Given the description of an element on the screen output the (x, y) to click on. 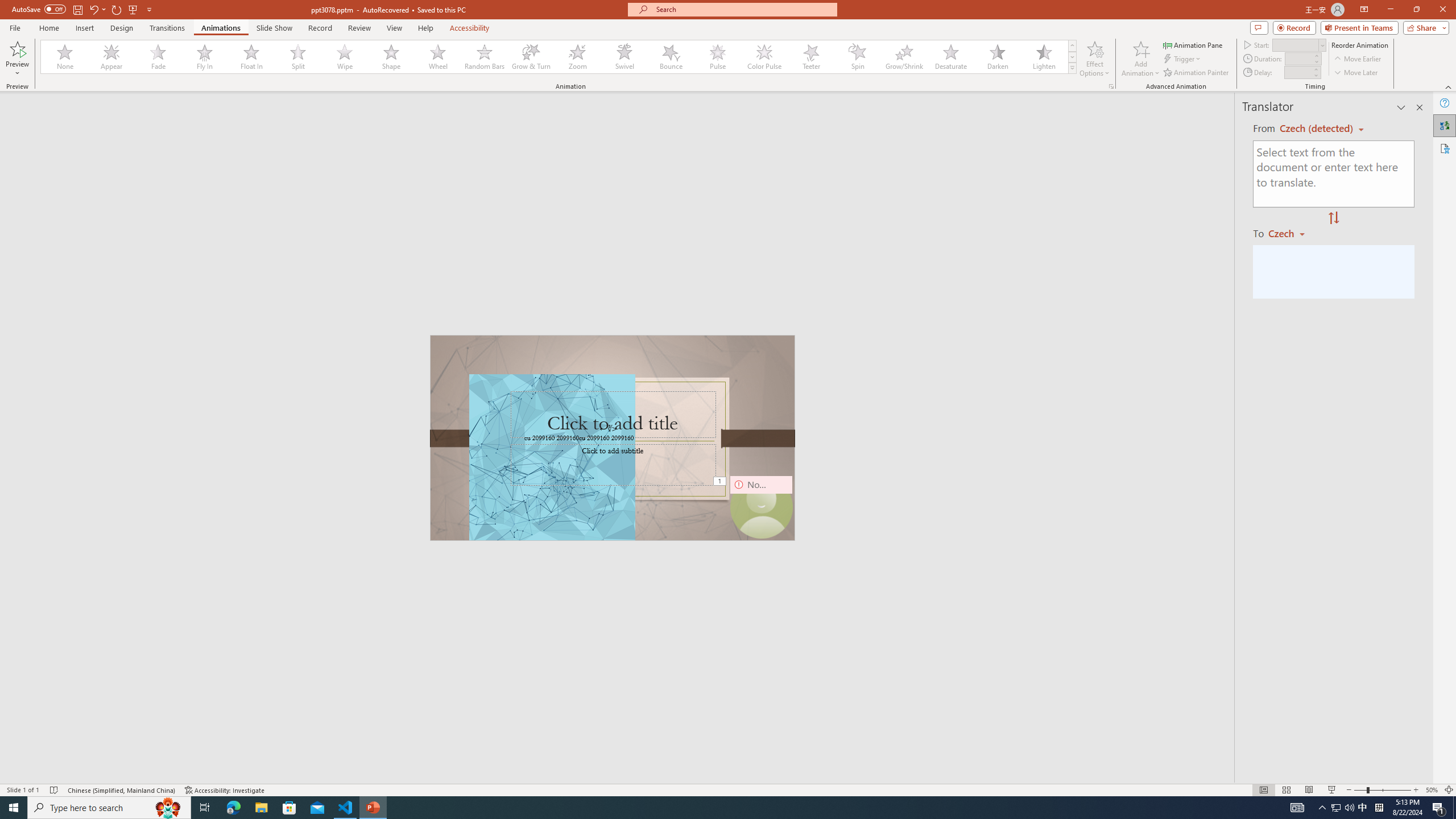
Fly In (205, 56)
Animation Pane (1193, 44)
Color Pulse (764, 56)
More Options... (1110, 85)
Animation Styles (1071, 67)
